Given the description of an element on the screen output the (x, y) to click on. 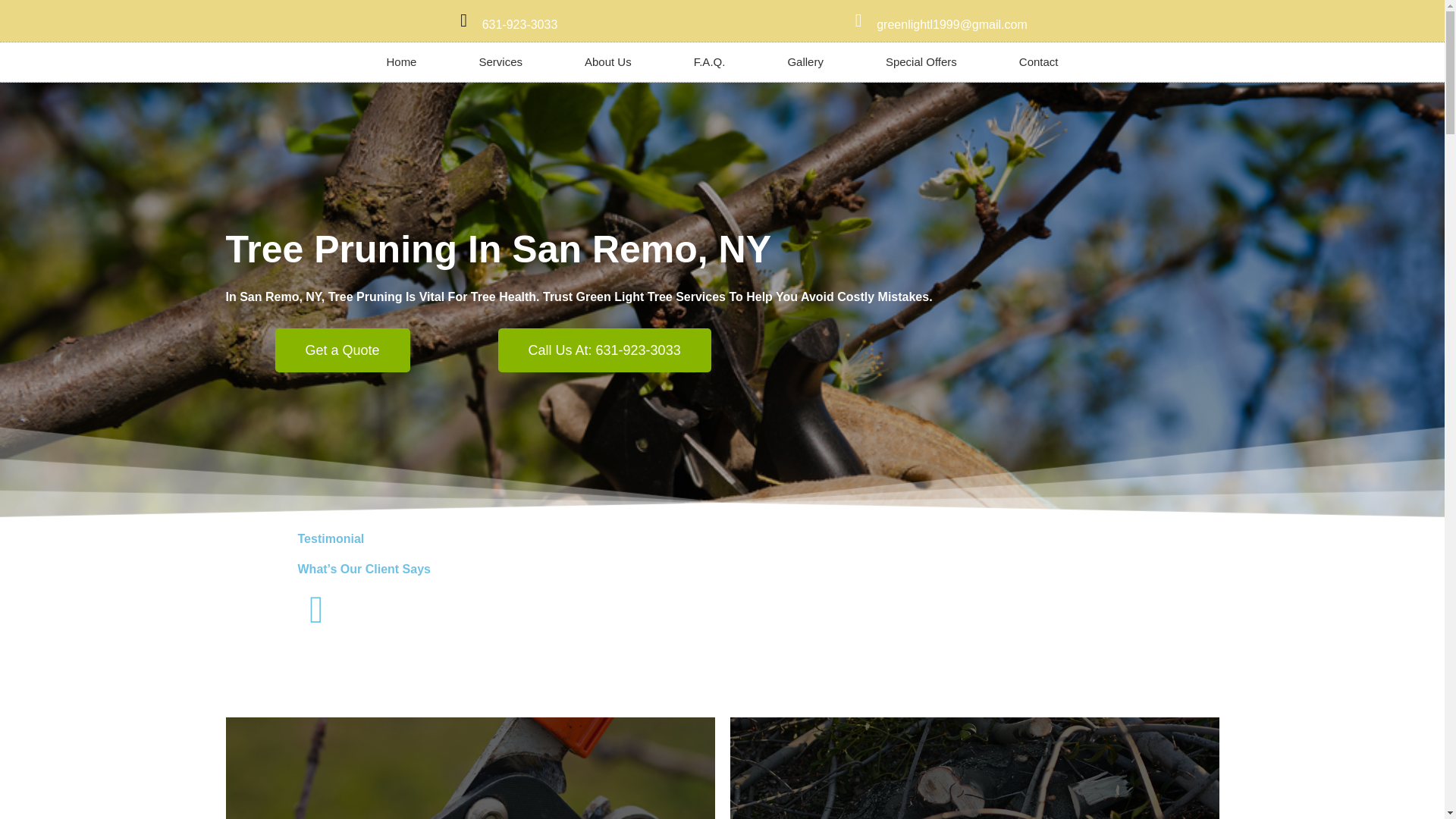
Get a Quote (345, 350)
631-923-3033 (519, 24)
Special Offers (921, 61)
Gallery (804, 61)
Call Us At: 631-923-3033 (606, 350)
Services (499, 61)
About Us (607, 61)
Contact (1038, 61)
Home (400, 61)
F.A.Q. (709, 61)
